Given the description of an element on the screen output the (x, y) to click on. 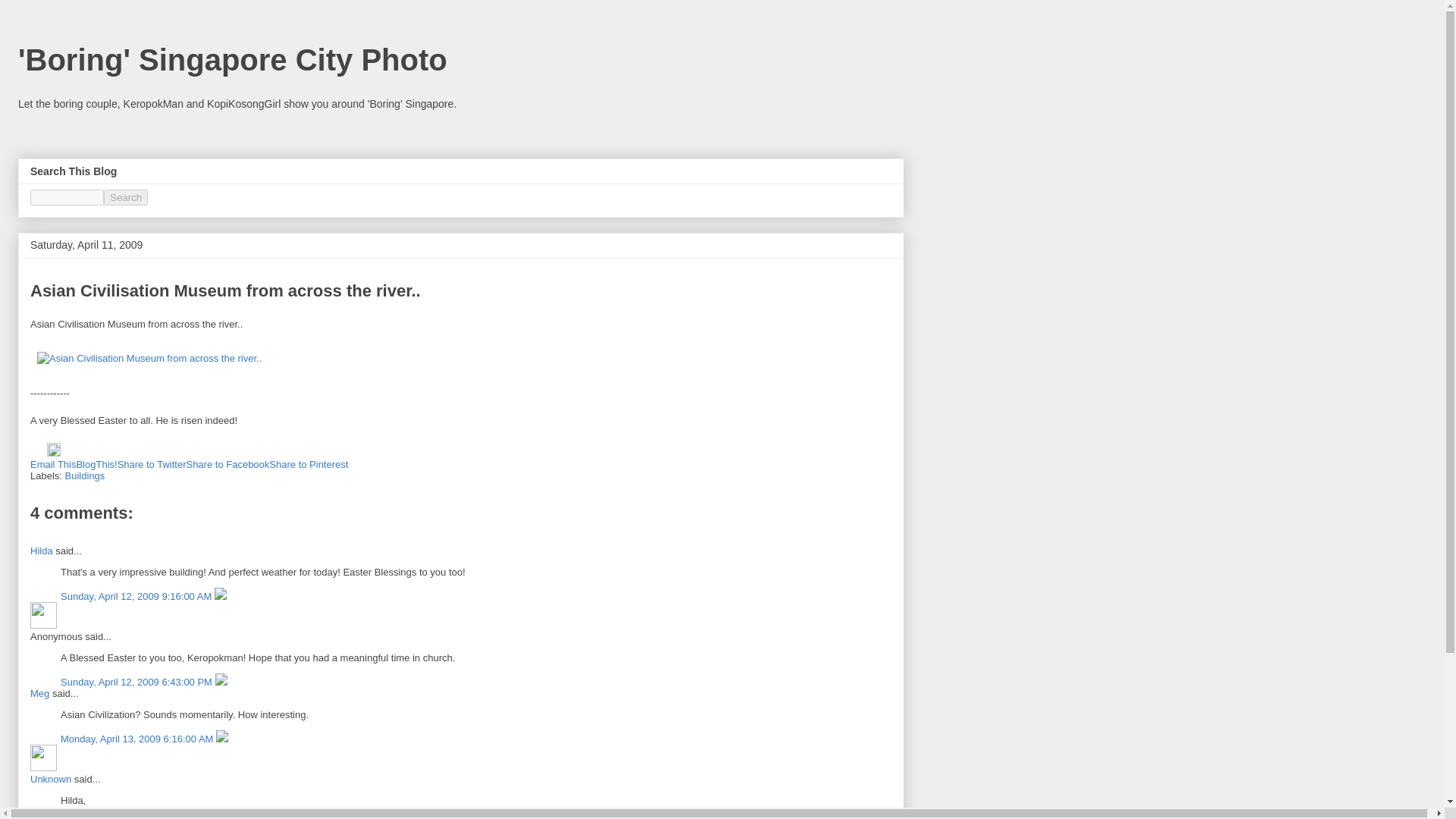
Email This (52, 464)
Buildings (84, 475)
Delete Comment (221, 681)
Delete Comment (220, 595)
'Boring' Singapore City Photo (231, 59)
Share to Twitter (151, 464)
Email Post (38, 452)
Sunday, April 12, 2009 9:16:00 AM (137, 595)
Share to Pinterest (308, 464)
BlogThis! (95, 464)
